Given the description of an element on the screen output the (x, y) to click on. 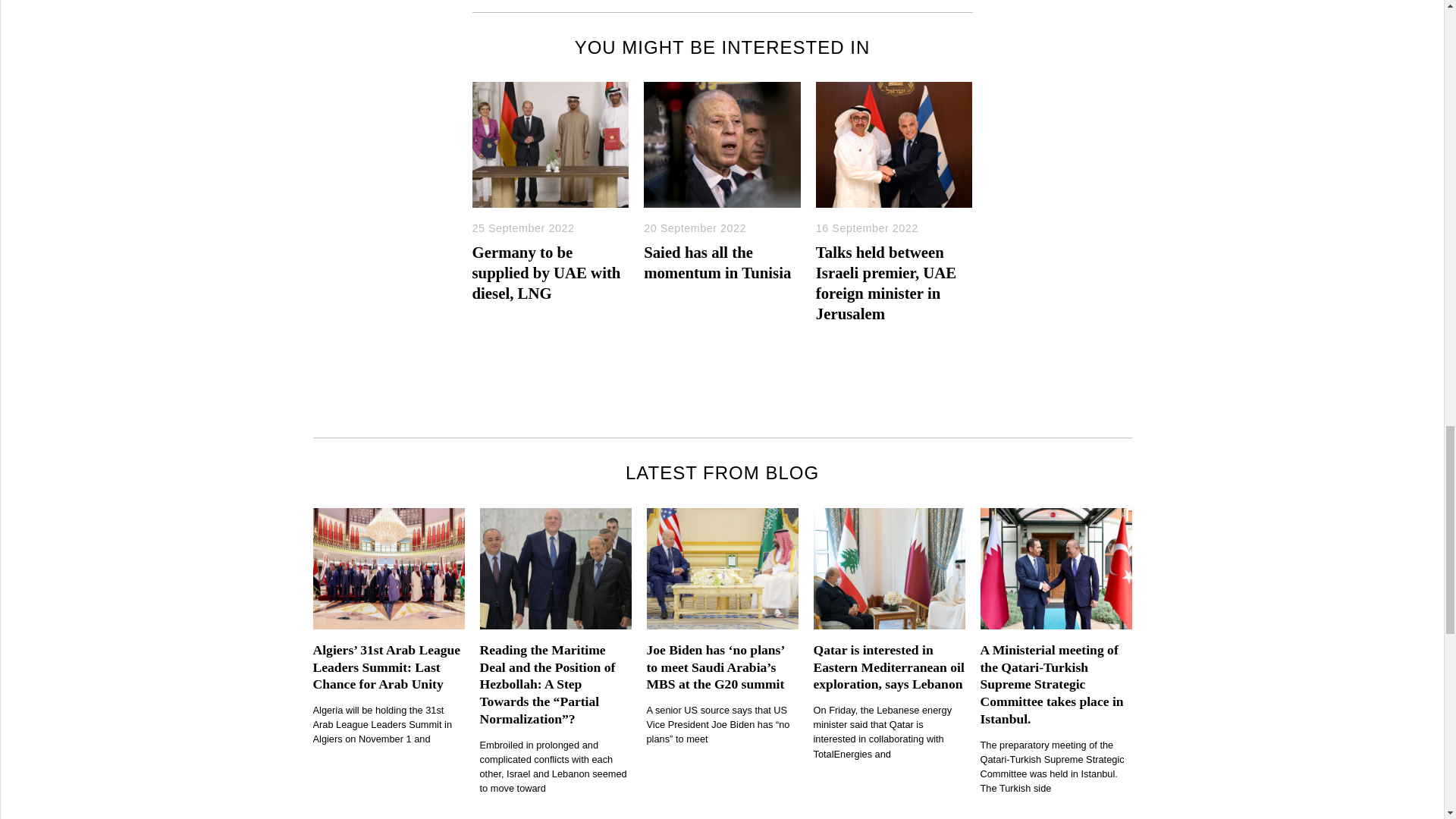
Saied has all the momentum in Tunisia (716, 262)
Germany to be supplied by UAE with diesel, LNG (545, 272)
